Given the description of an element on the screen output the (x, y) to click on. 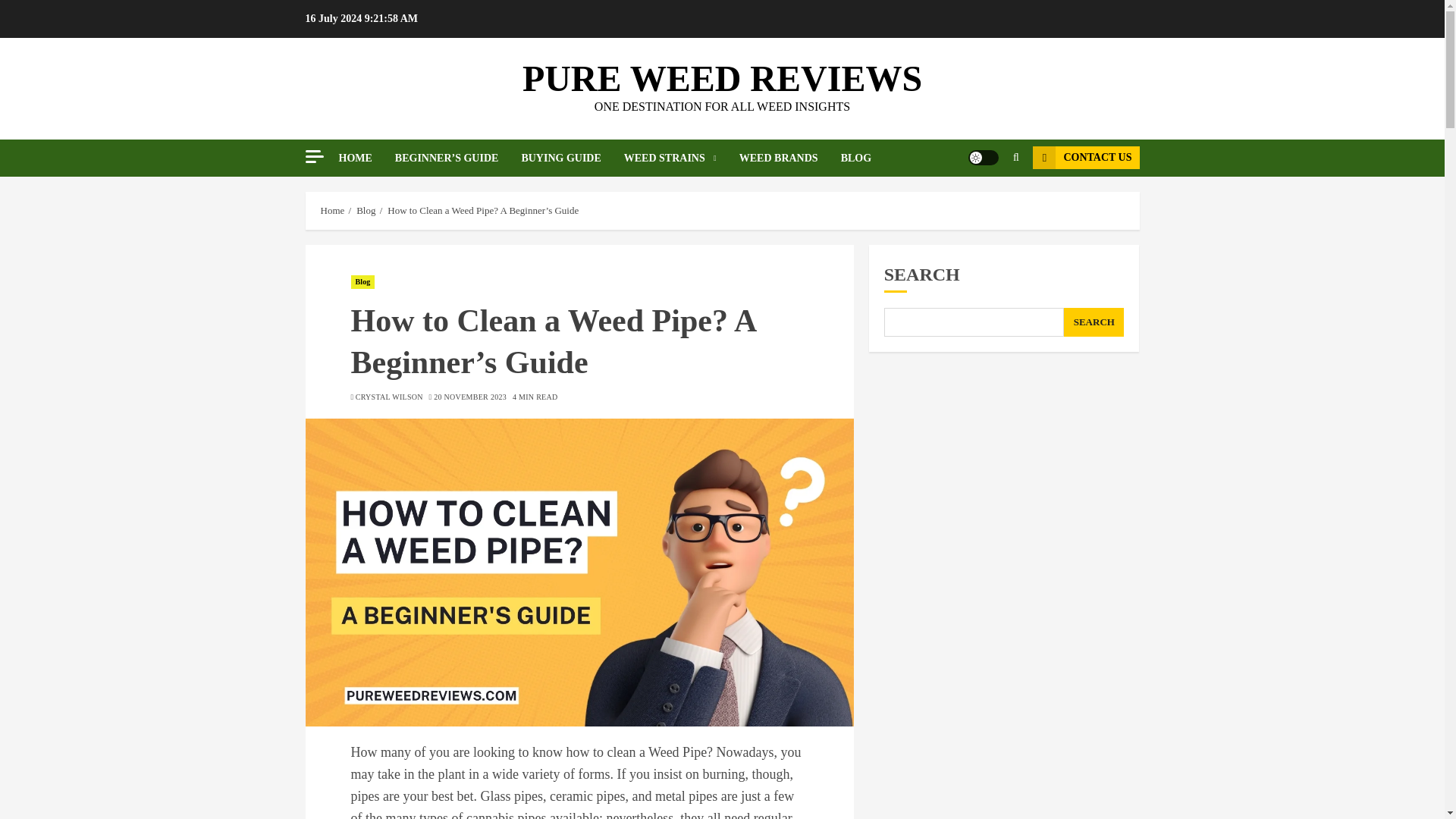
Search (1015, 157)
PURE WEED REVIEWS (721, 78)
Blog (365, 210)
WEED BRANDS (790, 157)
HOME (365, 157)
BLOG (855, 157)
CRYSTAL WILSON (389, 397)
WEED STRAINS (681, 157)
20 NOVEMBER 2023 (469, 397)
CONTACT US (1085, 157)
Home (331, 210)
Search (986, 203)
BUYING GUIDE (572, 157)
Blog (362, 282)
